Given the description of an element on the screen output the (x, y) to click on. 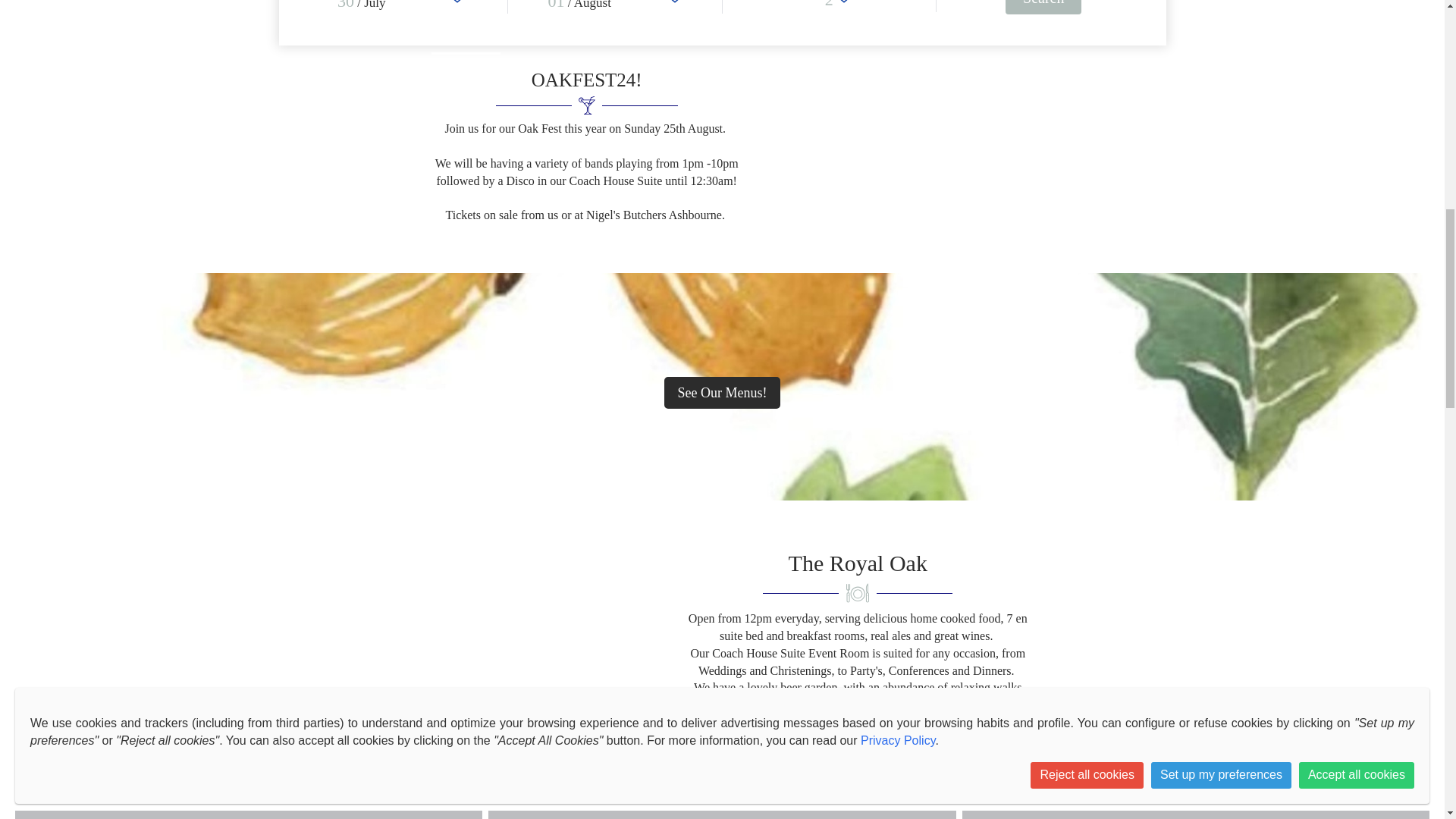
Family Room Ensuite (1195, 814)
See Our Menus! (721, 392)
King Ensuite (247, 814)
Search (1043, 7)
